Given the description of an element on the screen output the (x, y) to click on. 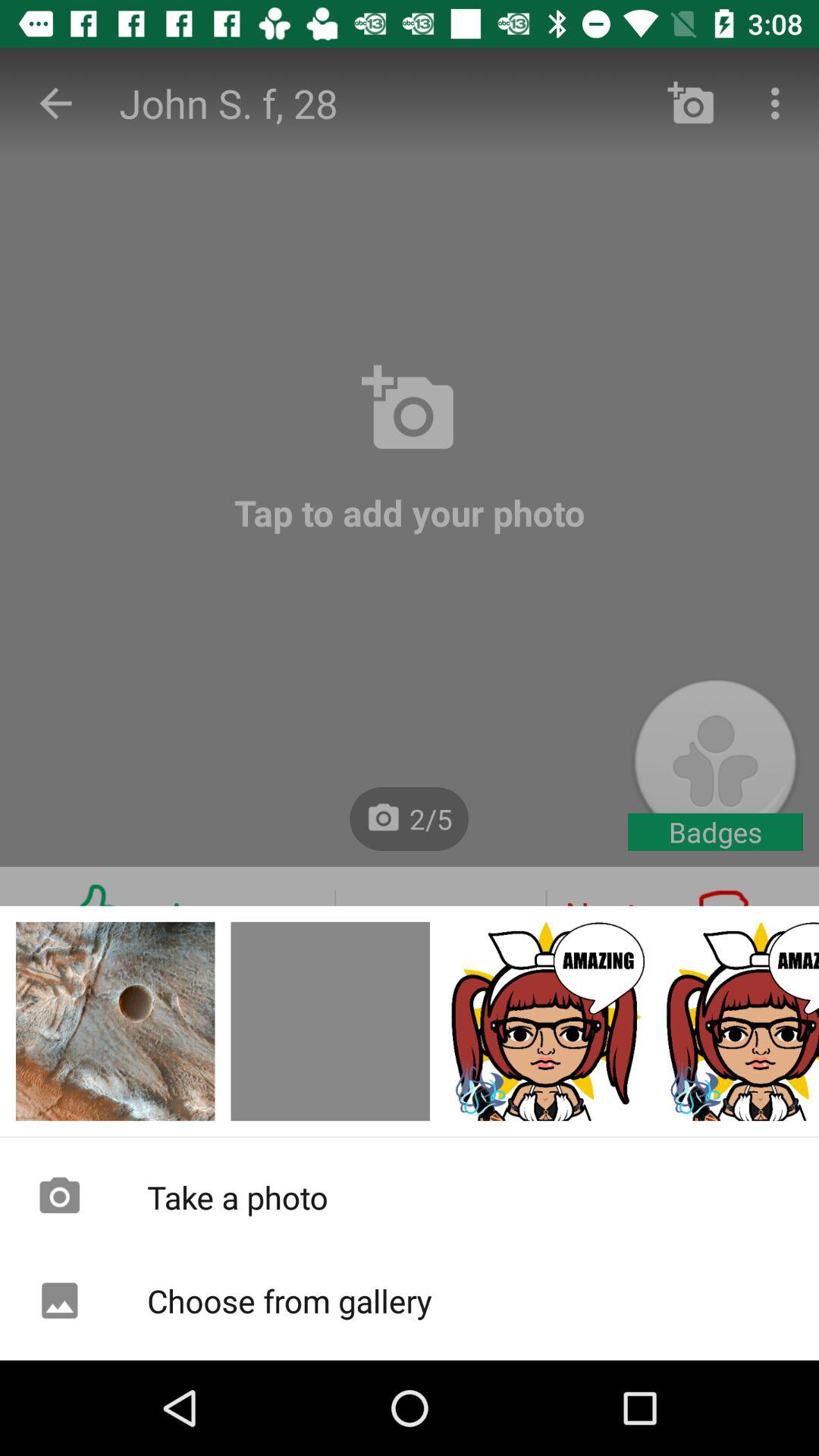
jump until take a photo item (409, 1196)
